Given the description of an element on the screen output the (x, y) to click on. 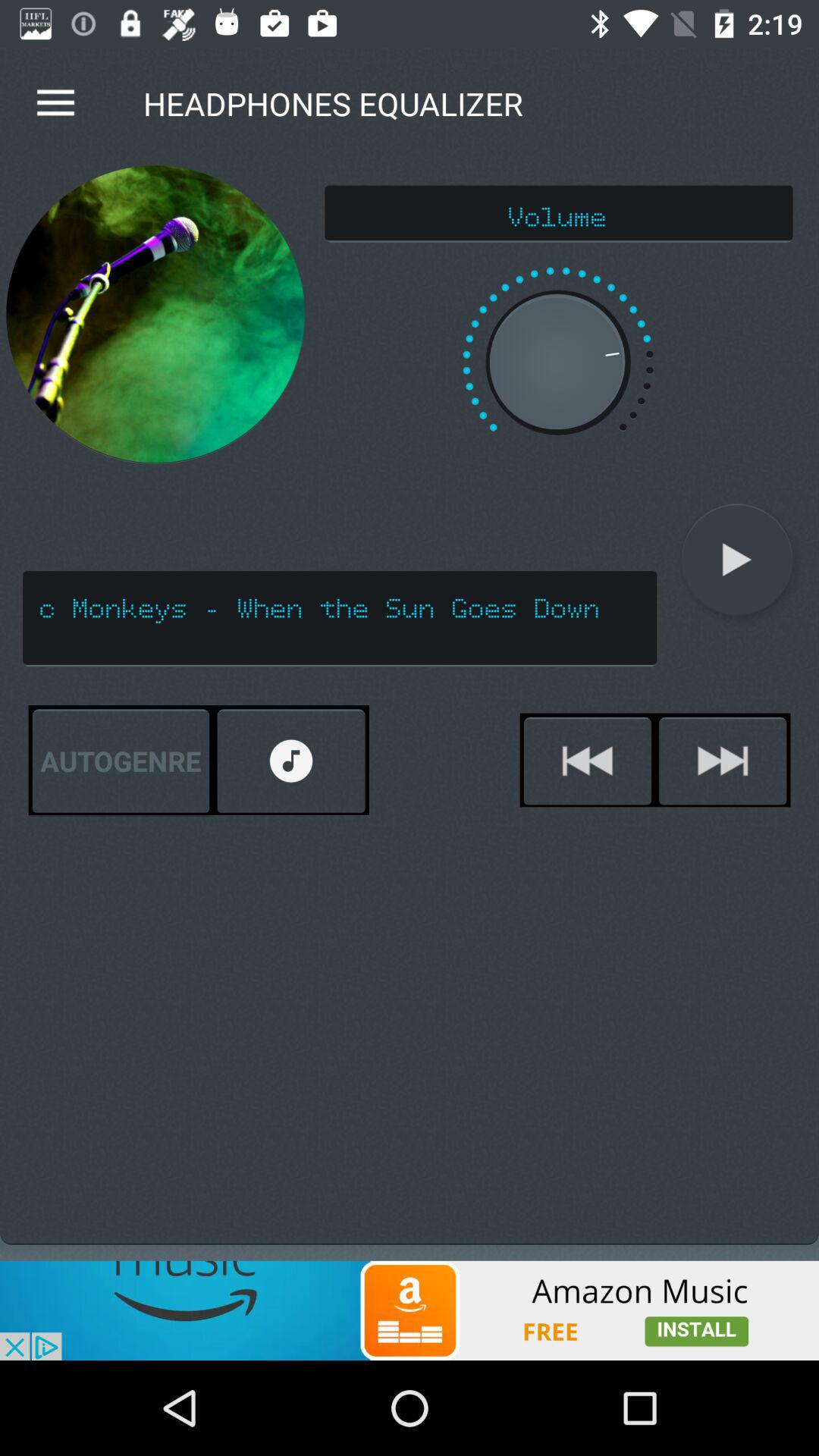
scroll to autogenre icon (120, 760)
